Given the description of an element on the screen output the (x, y) to click on. 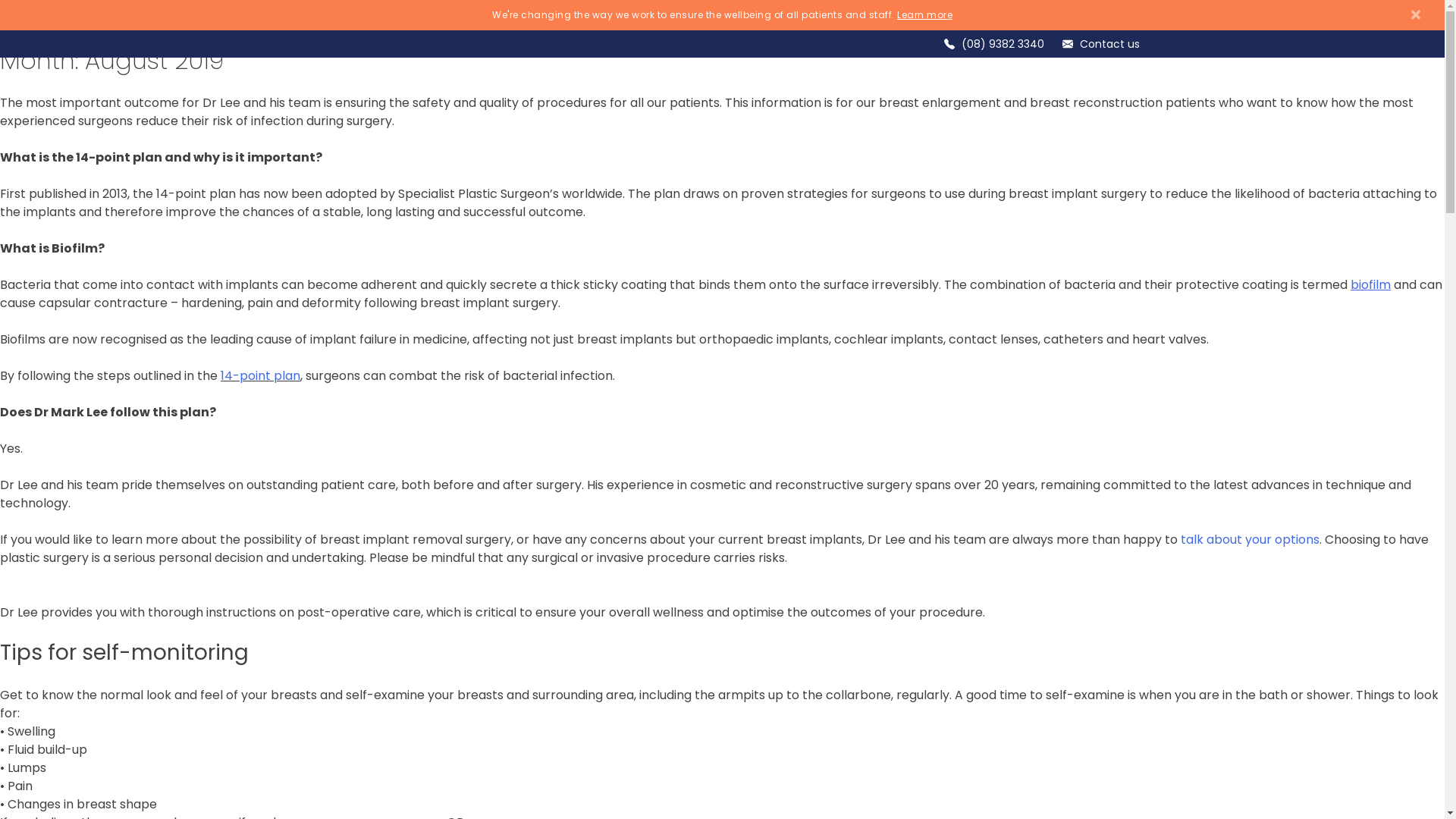
Contact us Element type: text (1109, 43)
biofilm Element type: text (1371, 284)
14-point plan Element type: text (260, 375)
Learn more Element type: text (924, 14)
talk about your options Element type: text (1249, 539)
